Given the description of an element on the screen output the (x, y) to click on. 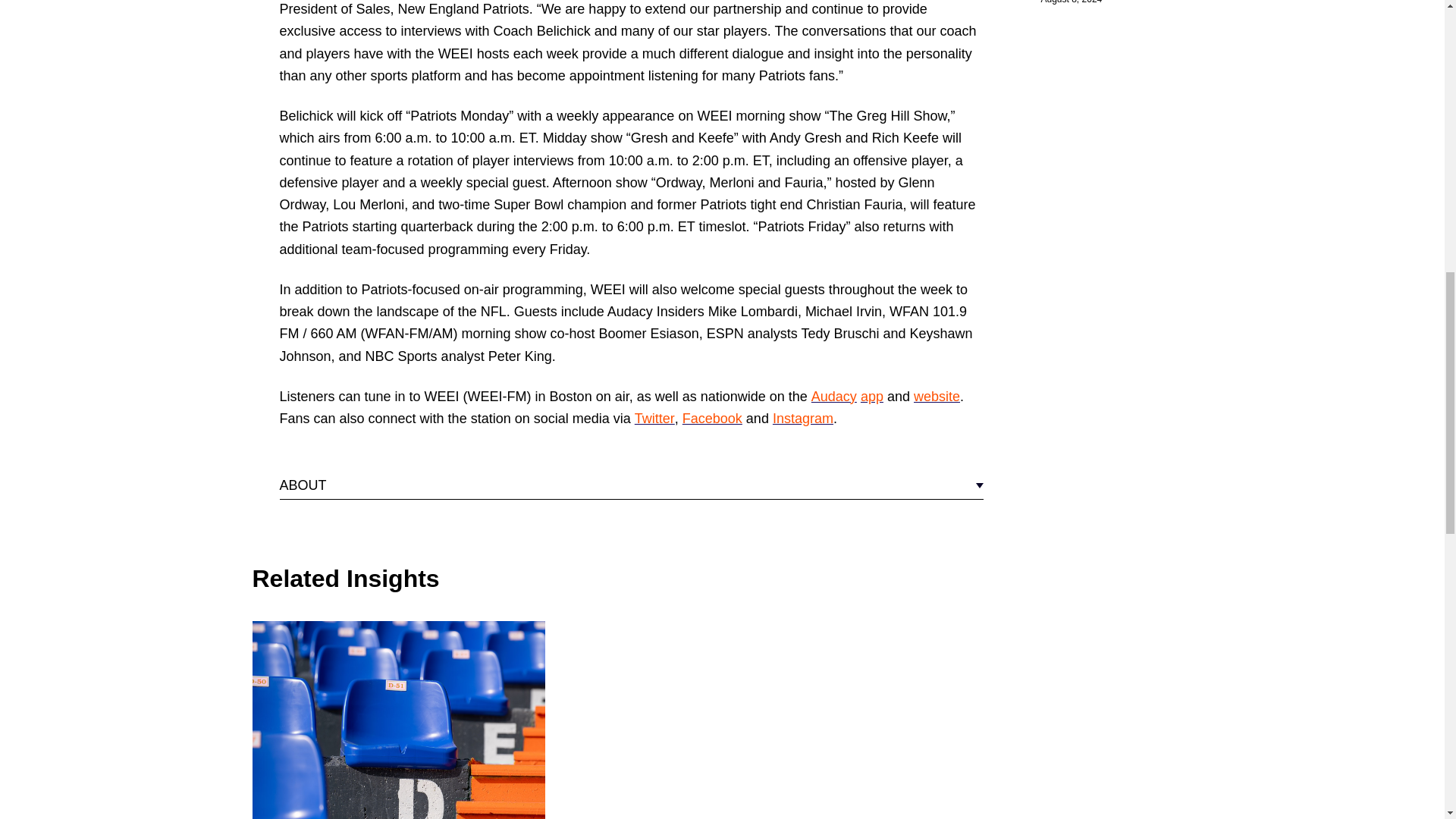
app (871, 396)
Twitter (654, 418)
Audacy (833, 396)
Instagram (802, 418)
Facebook (712, 418)
website (936, 396)
